Given the description of an element on the screen output the (x, y) to click on. 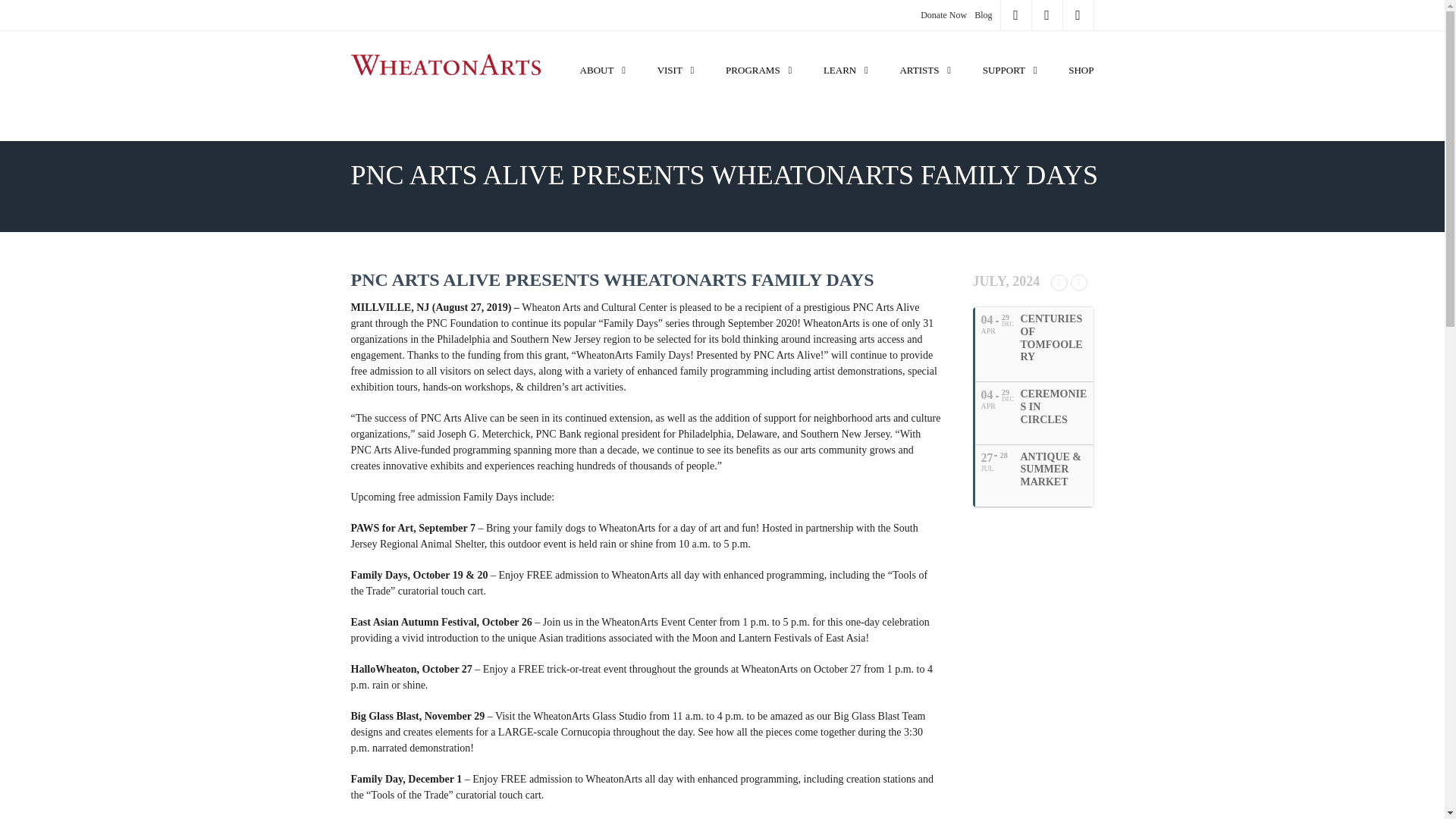
ARTISTS (927, 54)
Donate Now (943, 14)
Blog (982, 14)
LEARN (848, 54)
Permalink to PNC ARTS ALIVE PRESENTS WHEATONARTS FAMILY DAYS (611, 279)
ABOUT (604, 54)
PROGRAMS (760, 54)
